Given the description of an element on the screen output the (x, y) to click on. 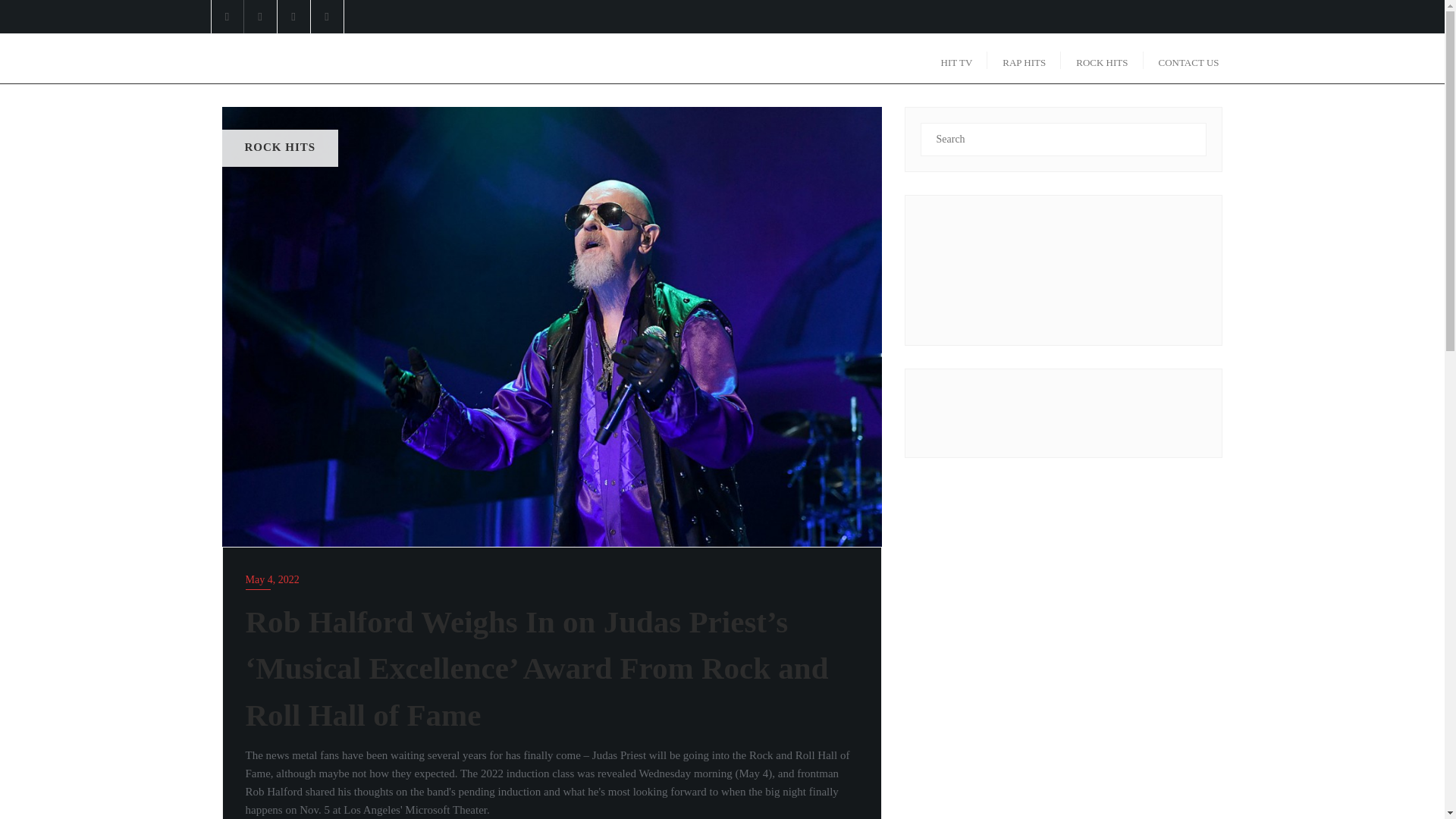
HIT TV (957, 58)
CONTACT US (1188, 58)
RAP HITS (1024, 58)
May 4, 2022 (552, 579)
ROCK HITS (1101, 58)
